Given the description of an element on the screen output the (x, y) to click on. 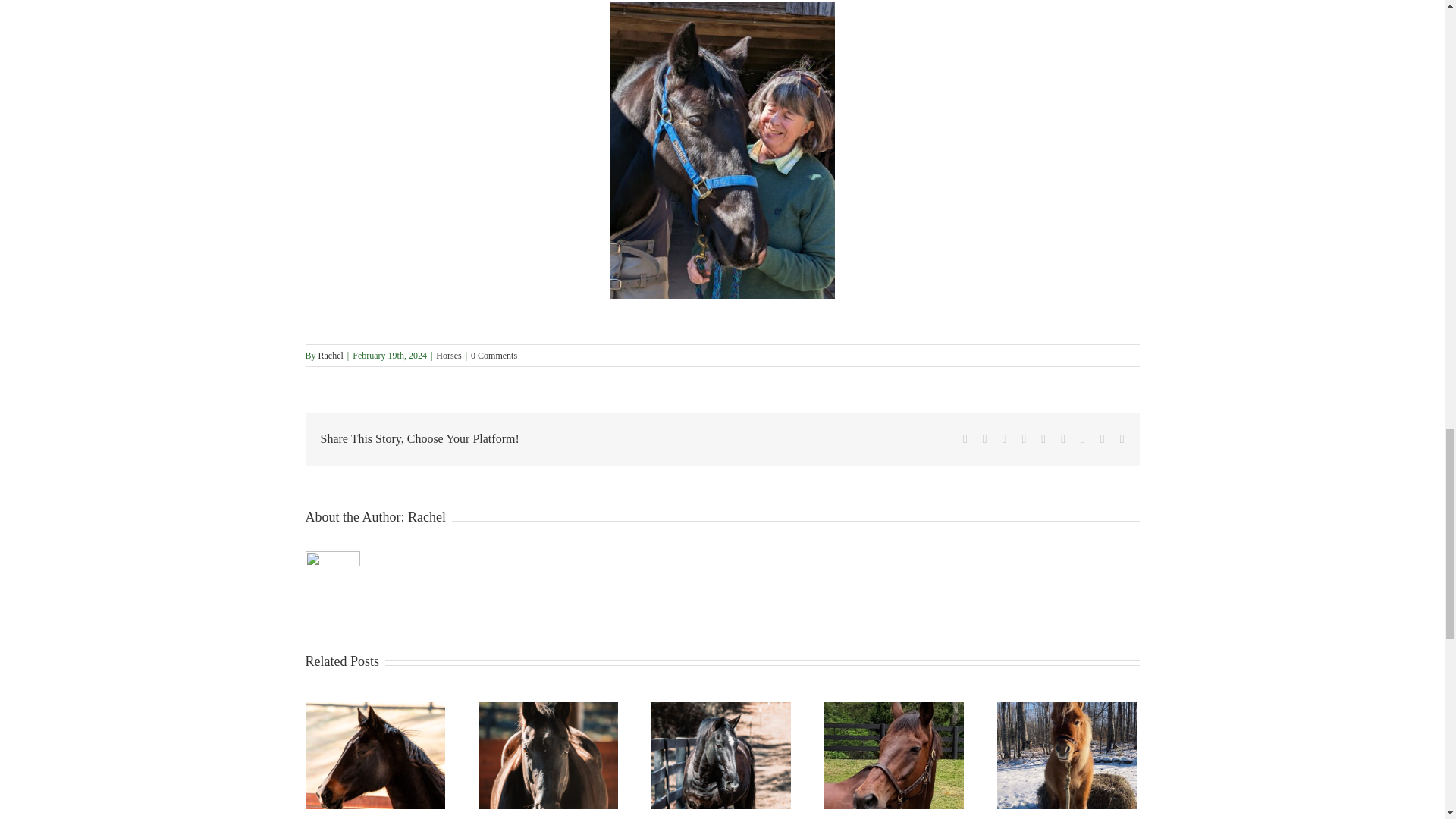
Posts by Rachel (426, 516)
Posts by Rachel (330, 355)
